Given the description of an element on the screen output the (x, y) to click on. 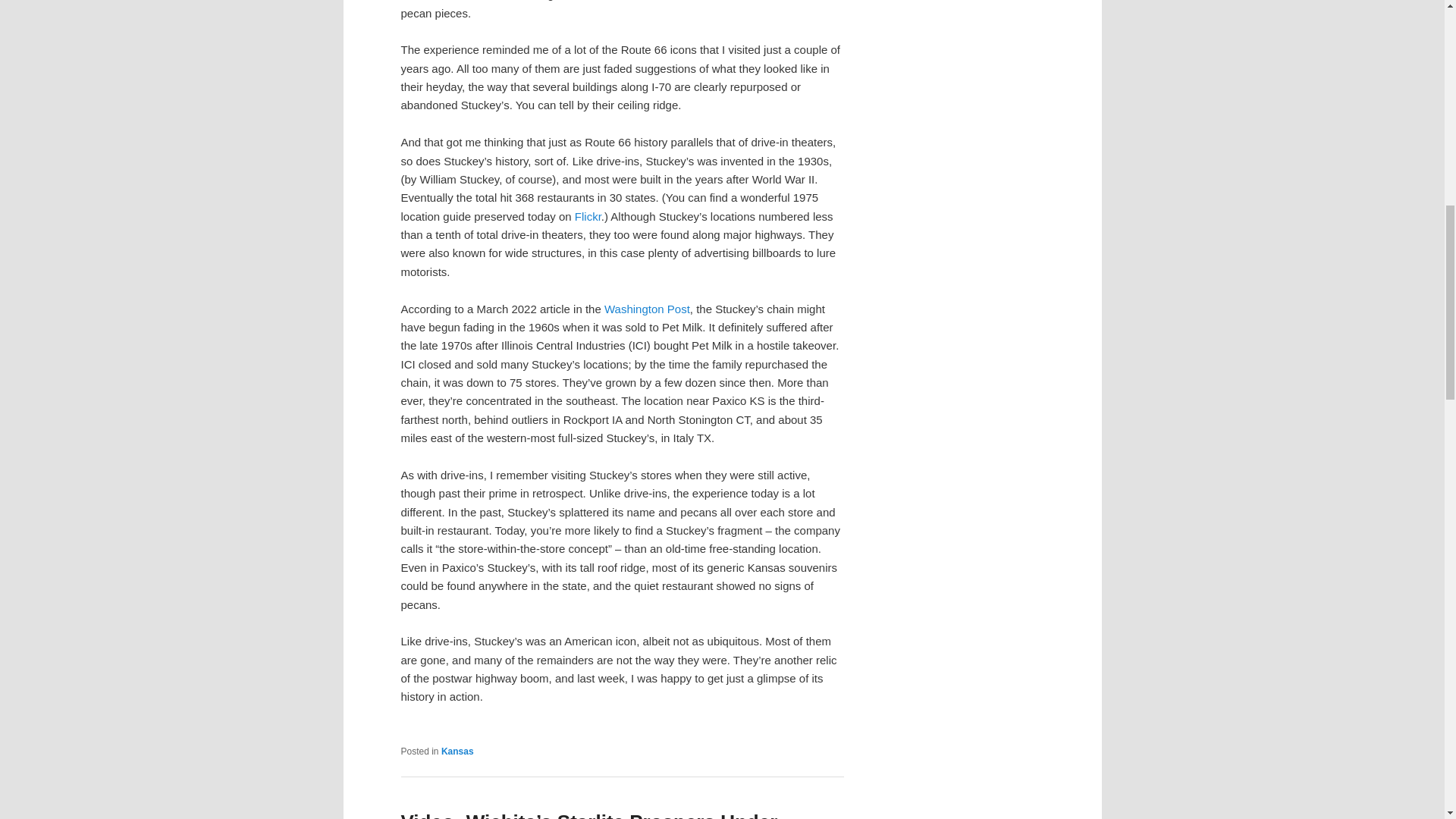
Flickr (588, 215)
Washington Post (647, 308)
Kansas (457, 751)
